Given the description of an element on the screen output the (x, y) to click on. 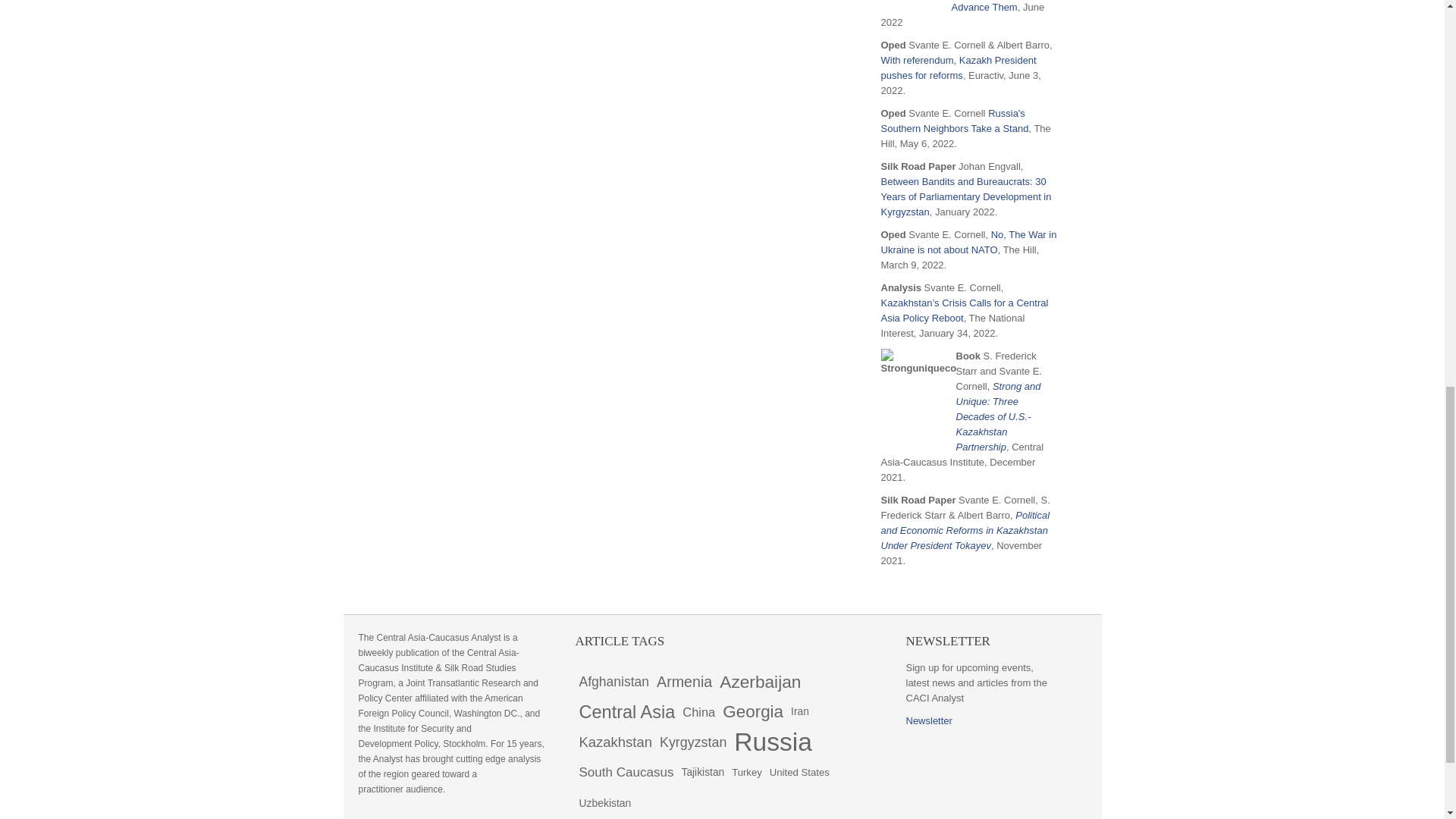
139 items tagged with Armenia (684, 681)
No, The War in Ukraine is not about NATO (968, 242)
175 items tagged with Azerbaijan (760, 681)
Afghanistan (613, 681)
64 items tagged with United States (798, 772)
109 items tagged with South Caucasus (626, 772)
184 items tagged with Central Asia (626, 711)
70 items tagged with Tajikistan (702, 772)
102 items tagged with China (698, 711)
With referendum, Kazakh President pushes for reforms (958, 67)
114 items tagged with Afghanistan (613, 681)
303 items tagged with Russia (772, 742)
